Given the description of an element on the screen output the (x, y) to click on. 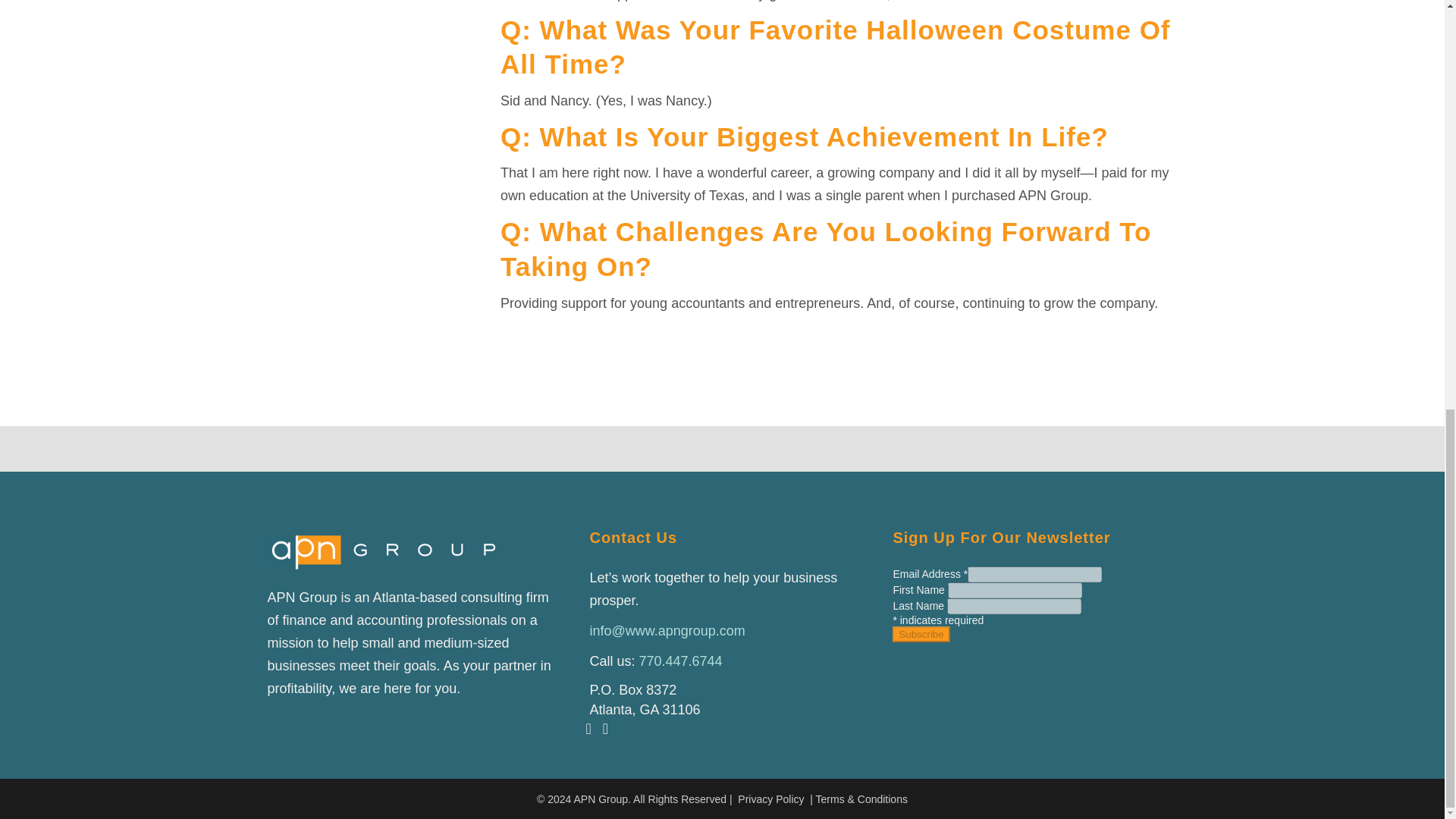
Subscribe (920, 634)
